Given the description of an element on the screen output the (x, y) to click on. 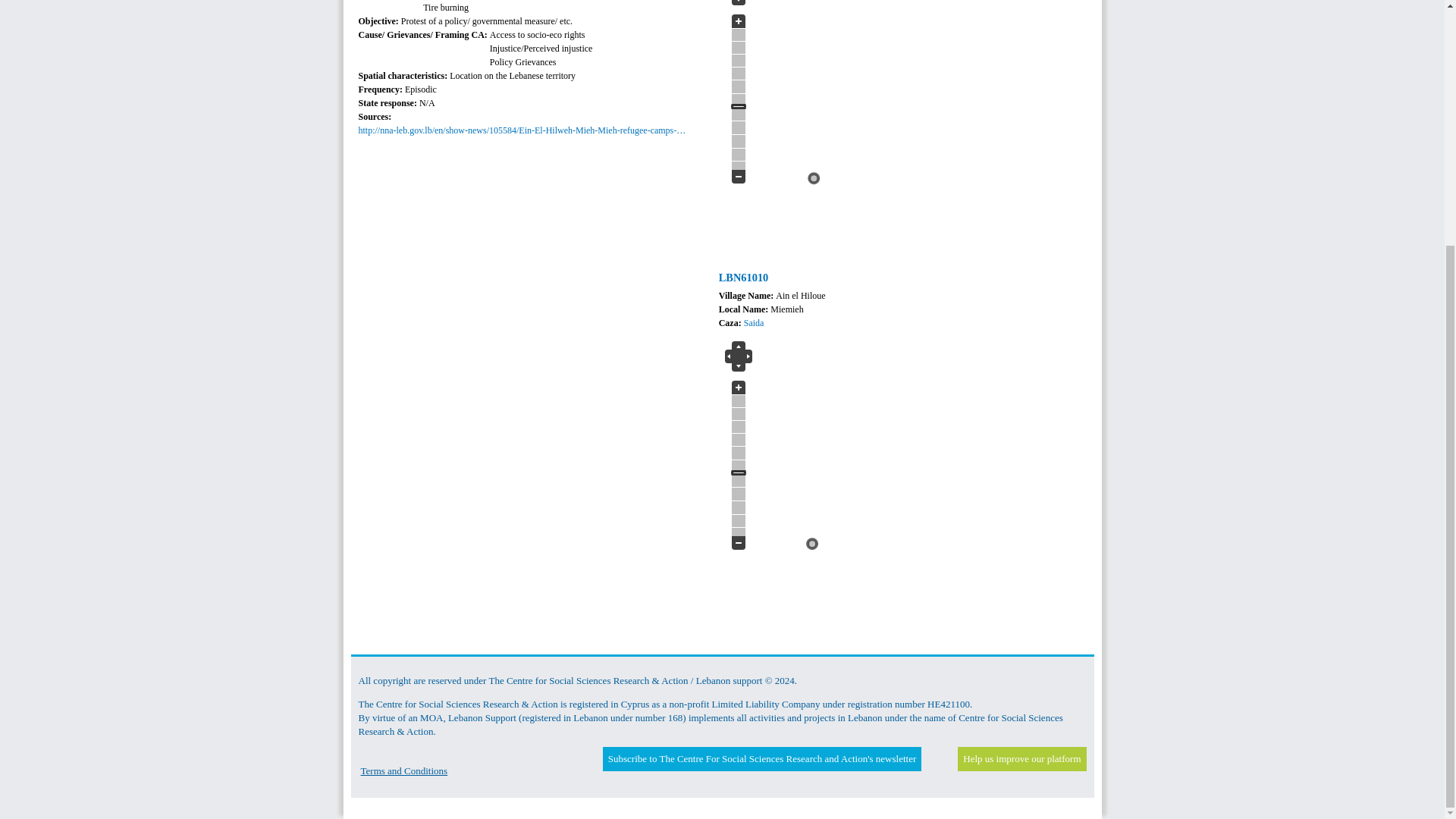
Help us improve our platform (1021, 758)
Saida (754, 322)
Terms and Conditions (404, 770)
LBN61010 (743, 277)
